Given the description of an element on the screen output the (x, y) to click on. 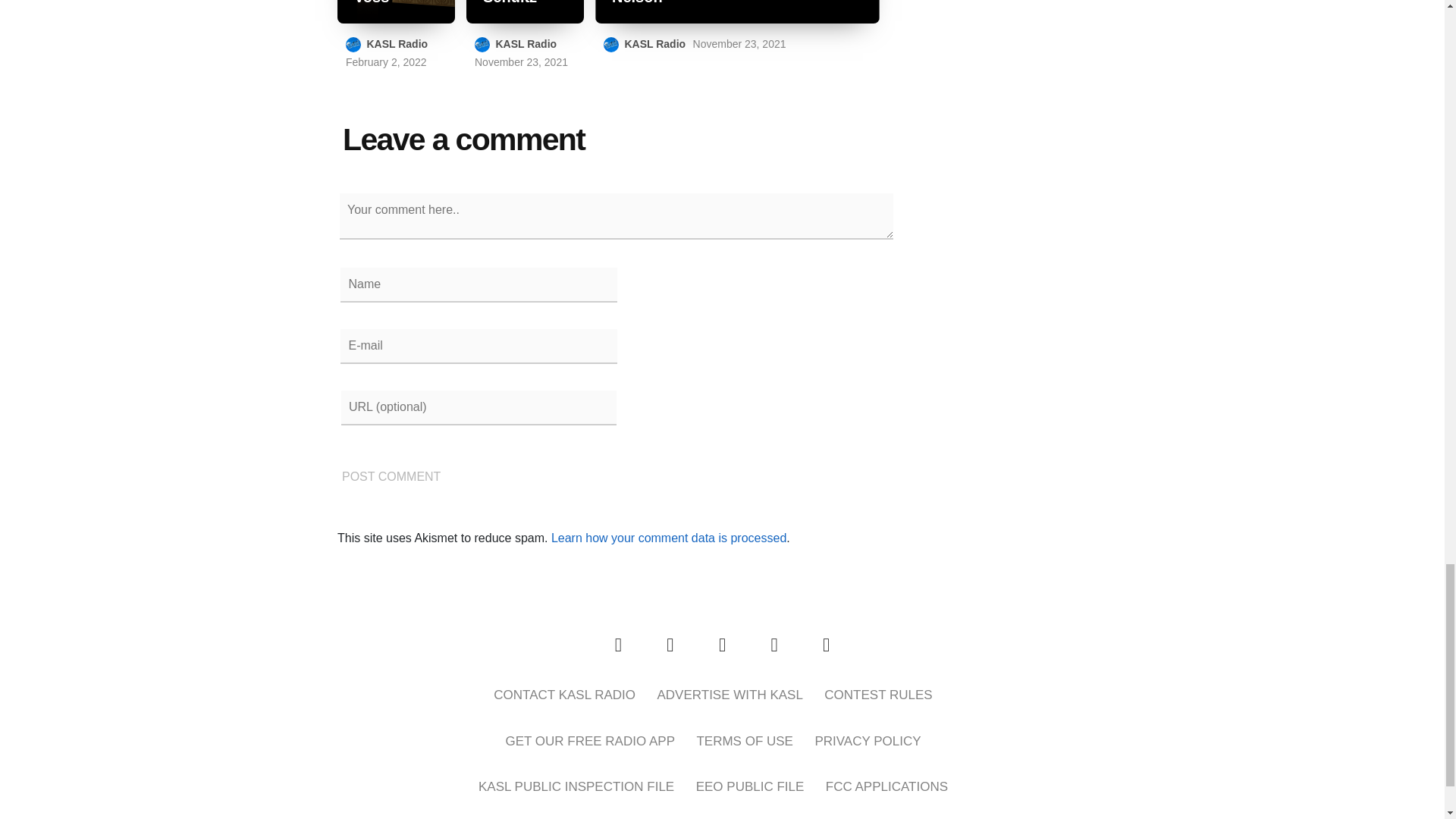
Posts by KASL Radio (525, 43)
Posts by KASL Radio (397, 43)
Posts by KASL Radio (654, 43)
Post Comment (391, 476)
